Given the description of an element on the screen output the (x, y) to click on. 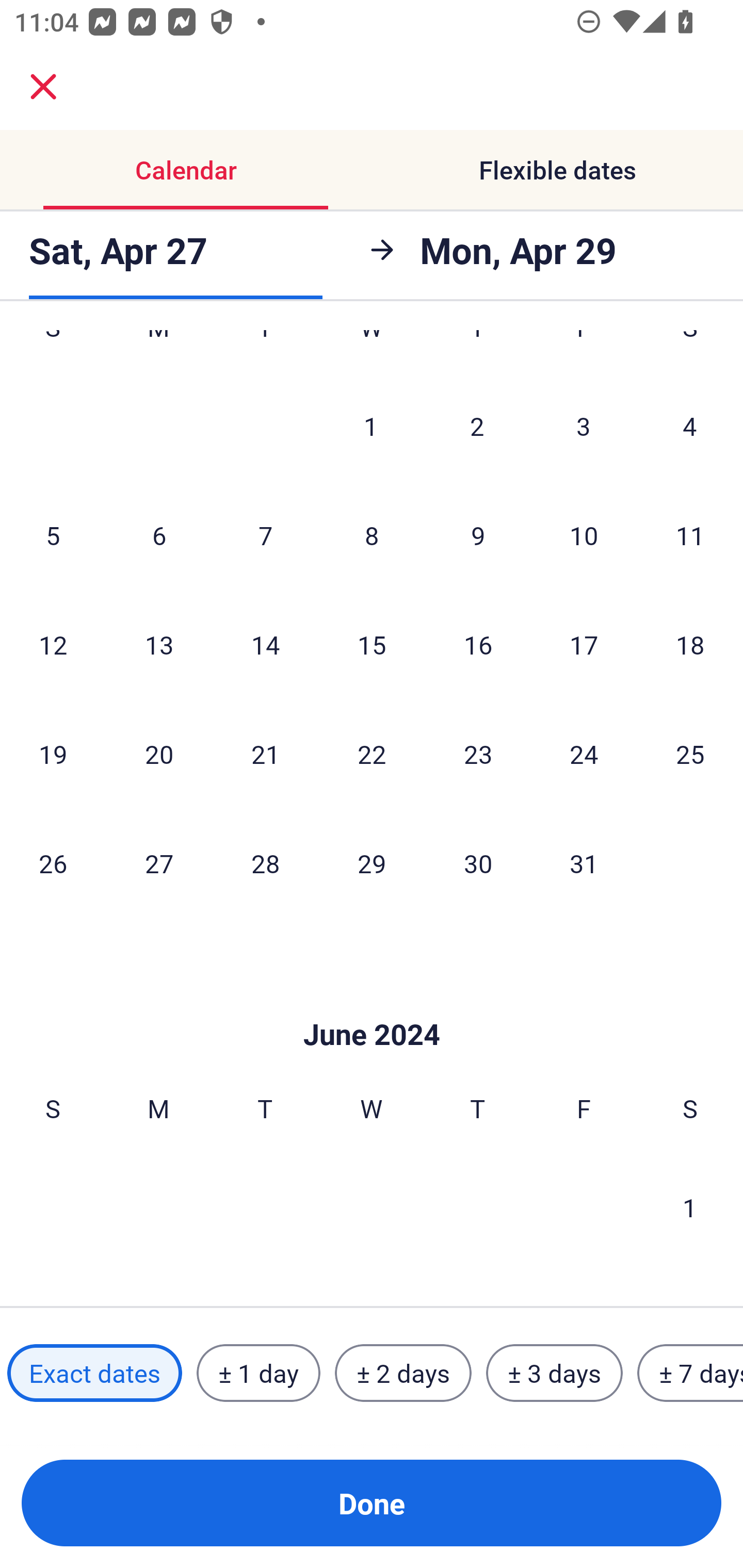
close. (43, 86)
Flexible dates (557, 170)
1 Wednesday, May 1, 2024 (371, 425)
2 Thursday, May 2, 2024 (477, 425)
3 Friday, May 3, 2024 (583, 425)
4 Saturday, May 4, 2024 (689, 425)
5 Sunday, May 5, 2024 (53, 535)
6 Monday, May 6, 2024 (159, 535)
7 Tuesday, May 7, 2024 (265, 535)
8 Wednesday, May 8, 2024 (371, 535)
9 Thursday, May 9, 2024 (477, 535)
10 Friday, May 10, 2024 (584, 535)
11 Saturday, May 11, 2024 (690, 535)
12 Sunday, May 12, 2024 (53, 644)
13 Monday, May 13, 2024 (159, 644)
14 Tuesday, May 14, 2024 (265, 644)
15 Wednesday, May 15, 2024 (371, 644)
16 Thursday, May 16, 2024 (477, 644)
17 Friday, May 17, 2024 (584, 644)
18 Saturday, May 18, 2024 (690, 644)
19 Sunday, May 19, 2024 (53, 752)
20 Monday, May 20, 2024 (159, 752)
21 Tuesday, May 21, 2024 (265, 752)
22 Wednesday, May 22, 2024 (371, 752)
23 Thursday, May 23, 2024 (477, 752)
24 Friday, May 24, 2024 (584, 752)
25 Saturday, May 25, 2024 (690, 752)
26 Sunday, May 26, 2024 (53, 862)
27 Monday, May 27, 2024 (159, 862)
28 Tuesday, May 28, 2024 (265, 862)
29 Wednesday, May 29, 2024 (371, 862)
30 Thursday, May 30, 2024 (477, 862)
31 Friday, May 31, 2024 (584, 862)
Skip to Done (371, 1003)
1 Saturday, June 1, 2024 (689, 1207)
Exact dates (94, 1372)
± 1 day (258, 1372)
± 2 days (403, 1372)
± 3 days (553, 1372)
± 7 days (690, 1372)
Done (371, 1502)
